Given the description of an element on the screen output the (x, y) to click on. 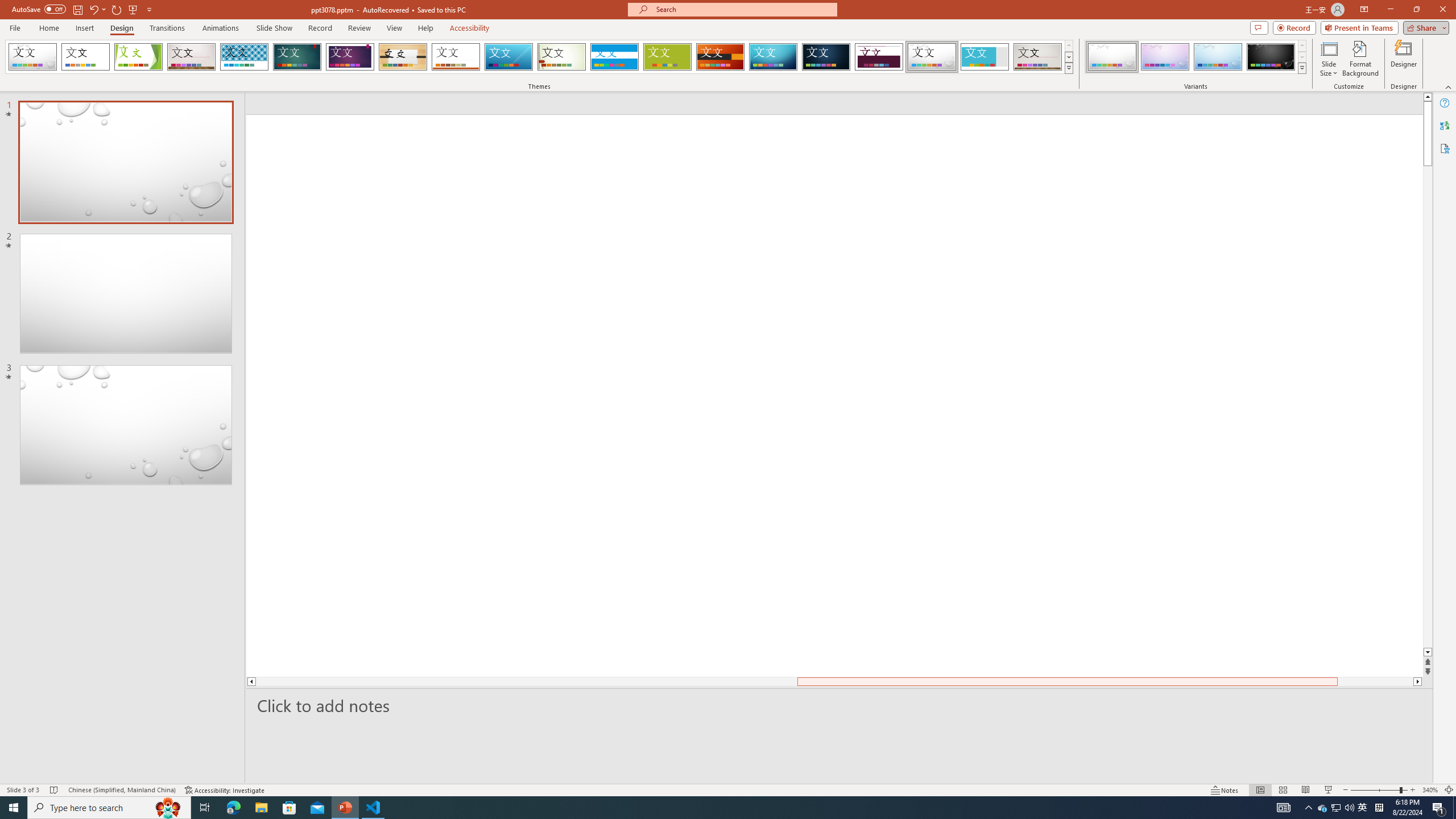
Office Theme (85, 56)
Zoom 340% (1430, 790)
Slide Size (1328, 58)
Circuit (772, 56)
Ion (296, 56)
